Given the description of an element on the screen output the (x, y) to click on. 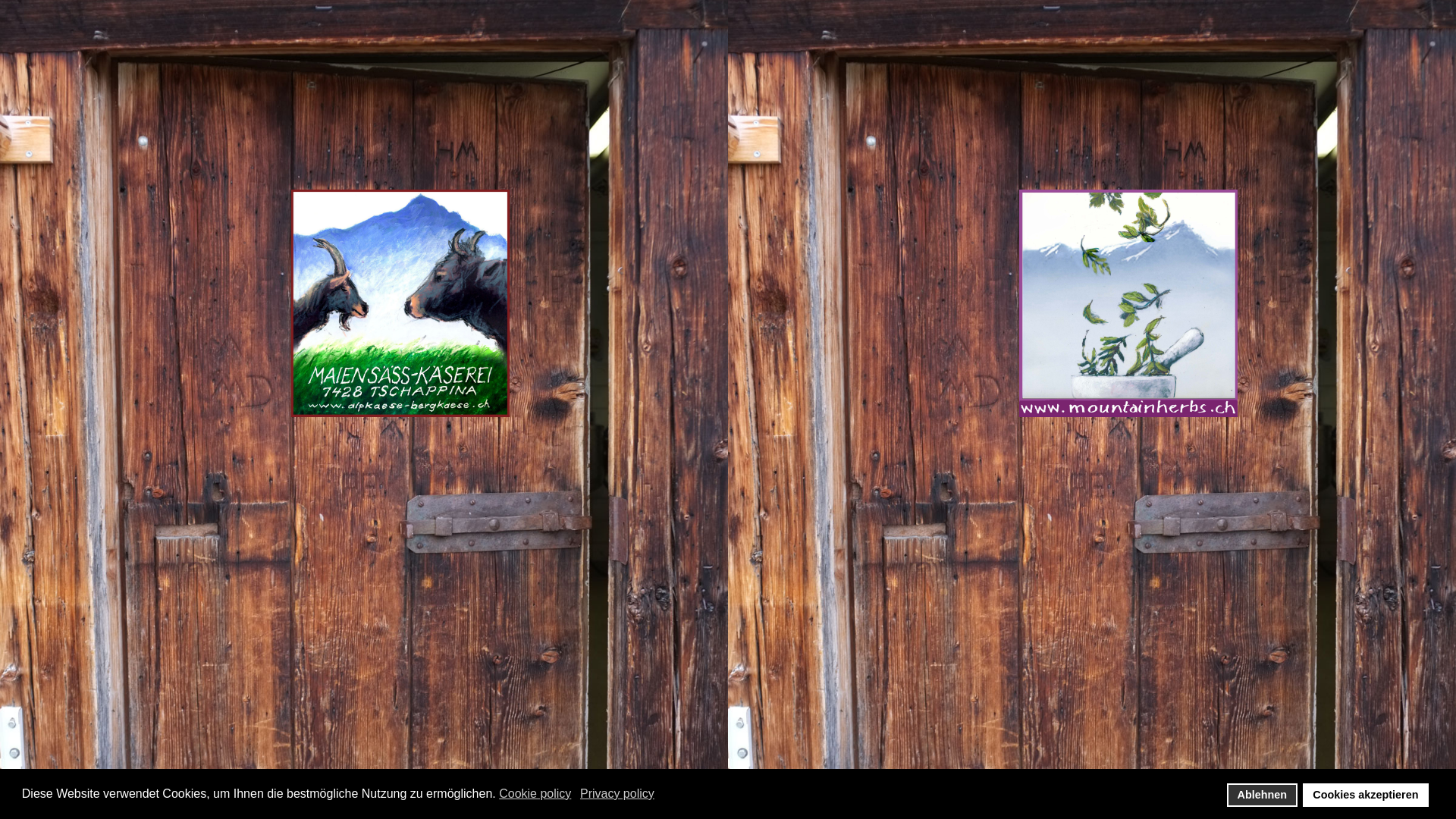
Ablehnen Element type: text (1261, 794)
Privacy policy Element type: text (618, 793)
Cookies akzeptieren Element type: text (1365, 794)
Cookie policy Element type: text (535, 793)
